Given the description of an element on the screen output the (x, y) to click on. 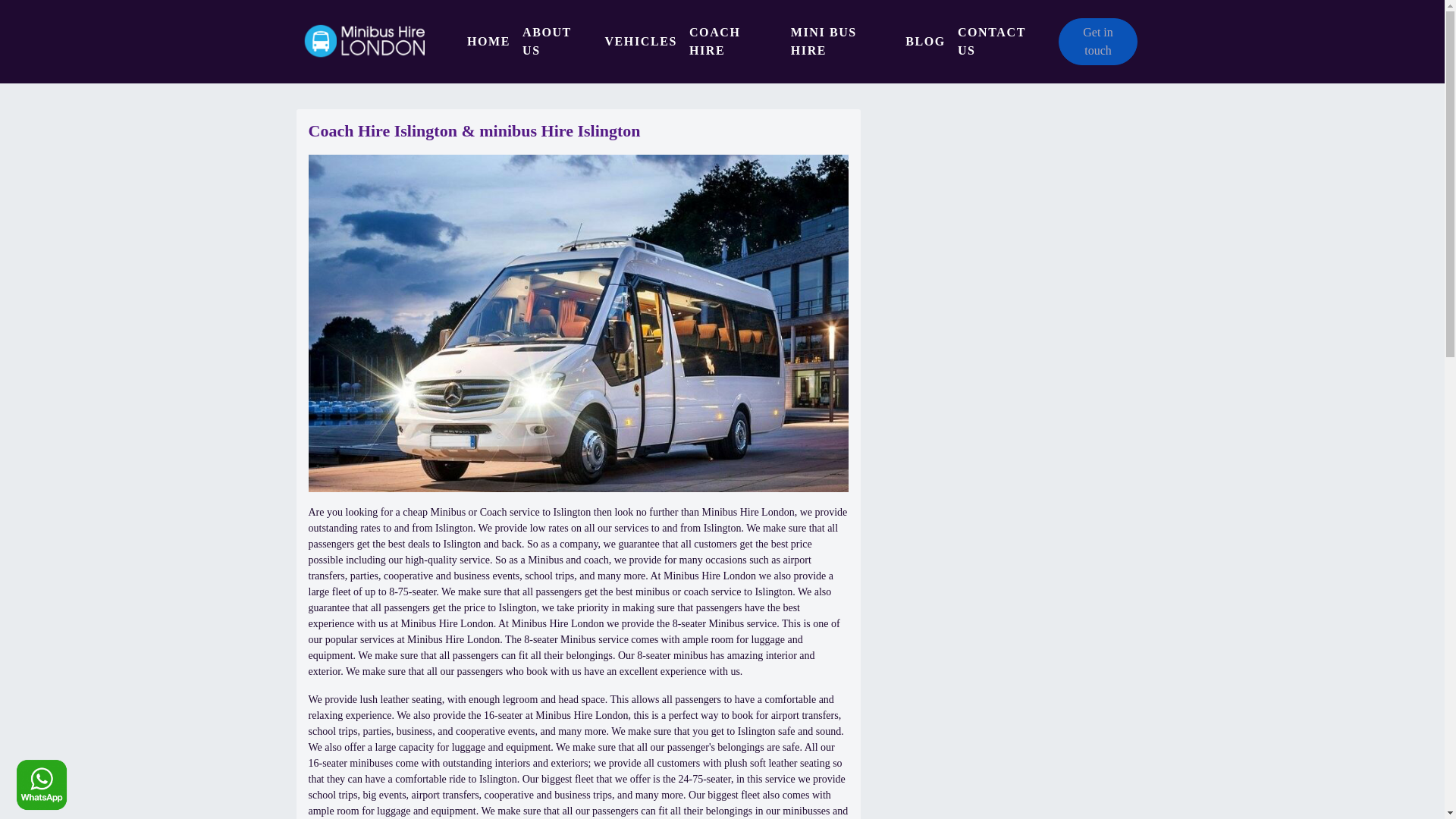
BLOG (925, 41)
HOME (488, 41)
ABOUT US (557, 41)
COACH HIRE (733, 41)
HOME (488, 41)
VEHICLES (640, 41)
MINI BUS HIRE (841, 41)
CONTACT US (1002, 41)
Get in touch (1097, 41)
CONTACT US (1002, 41)
